Given the description of an element on the screen output the (x, y) to click on. 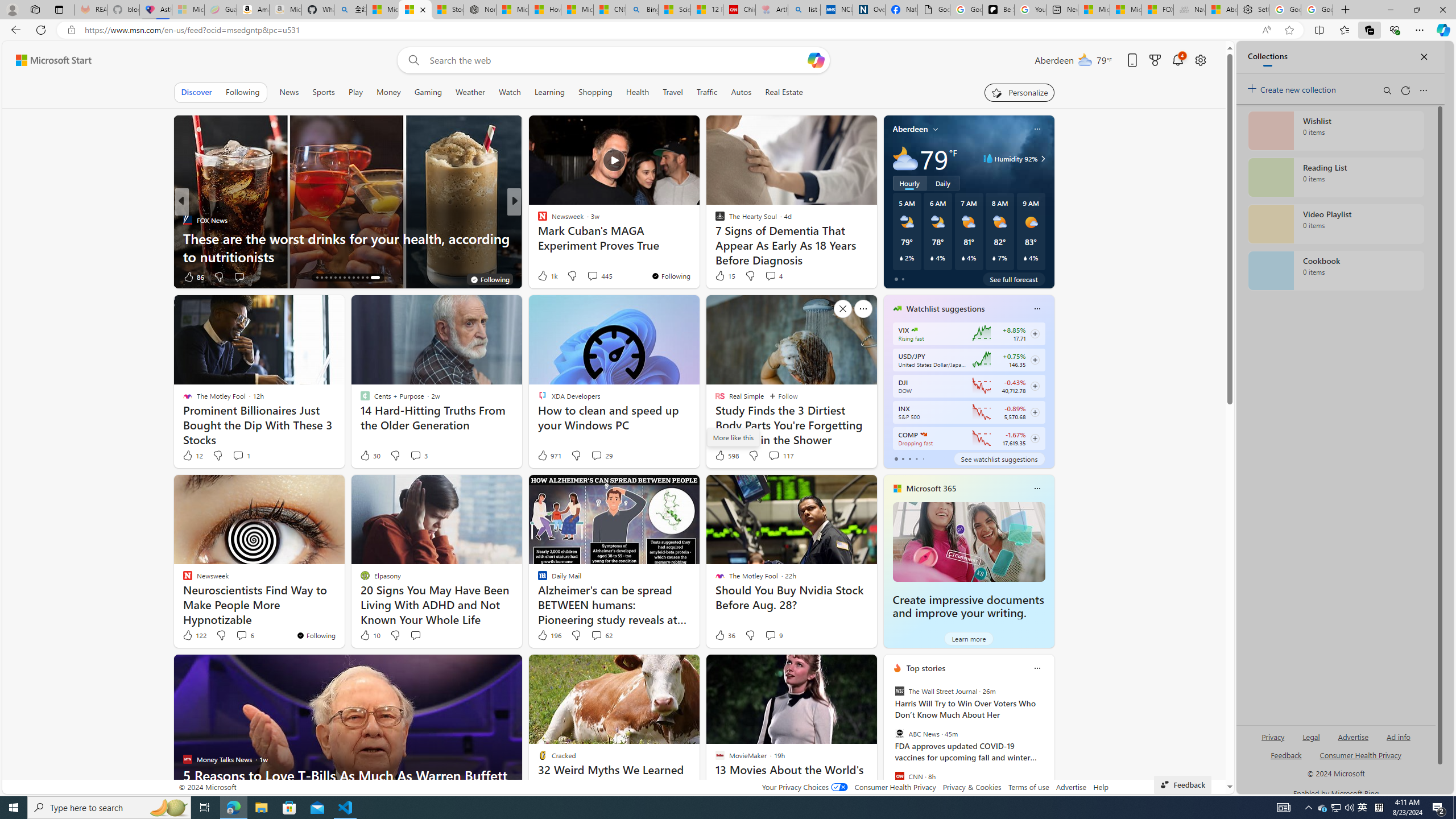
Privacy & Cookies (971, 786)
Watchlist suggestions (945, 308)
Be Smart | creating Science videos | Patreon (997, 9)
tab-4 (923, 458)
Create impressive documents and improve your writing. (967, 606)
AutomationID: tab-20 (344, 277)
Mostly cloudy (904, 158)
Class: follow-button  m (1034, 438)
View comments 9 Comment (773, 634)
